Given the description of an element on the screen output the (x, y) to click on. 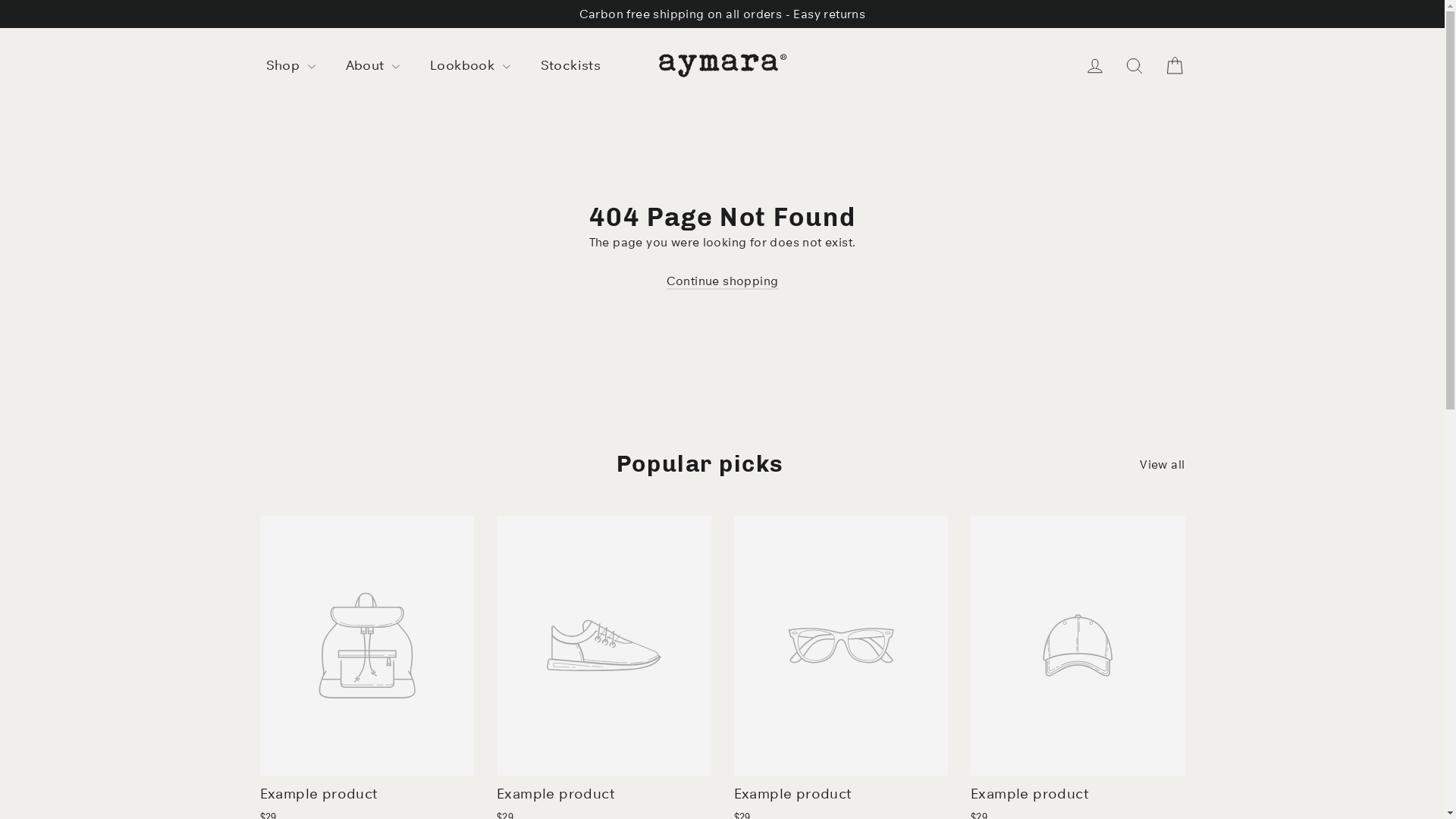
Log in Element type: text (1094, 65)
Continue shopping Element type: text (722, 281)
Lookbook Element type: text (469, 65)
Search Element type: text (1134, 65)
Shop Element type: text (289, 65)
Carbon free shipping on all orders - Easy returns Element type: text (722, 14)
Stockists Element type: text (570, 65)
Cart Element type: text (1173, 65)
About Element type: text (372, 65)
View all Element type: text (1161, 462)
Skip to content Element type: text (0, 0)
